Given the description of an element on the screen output the (x, y) to click on. 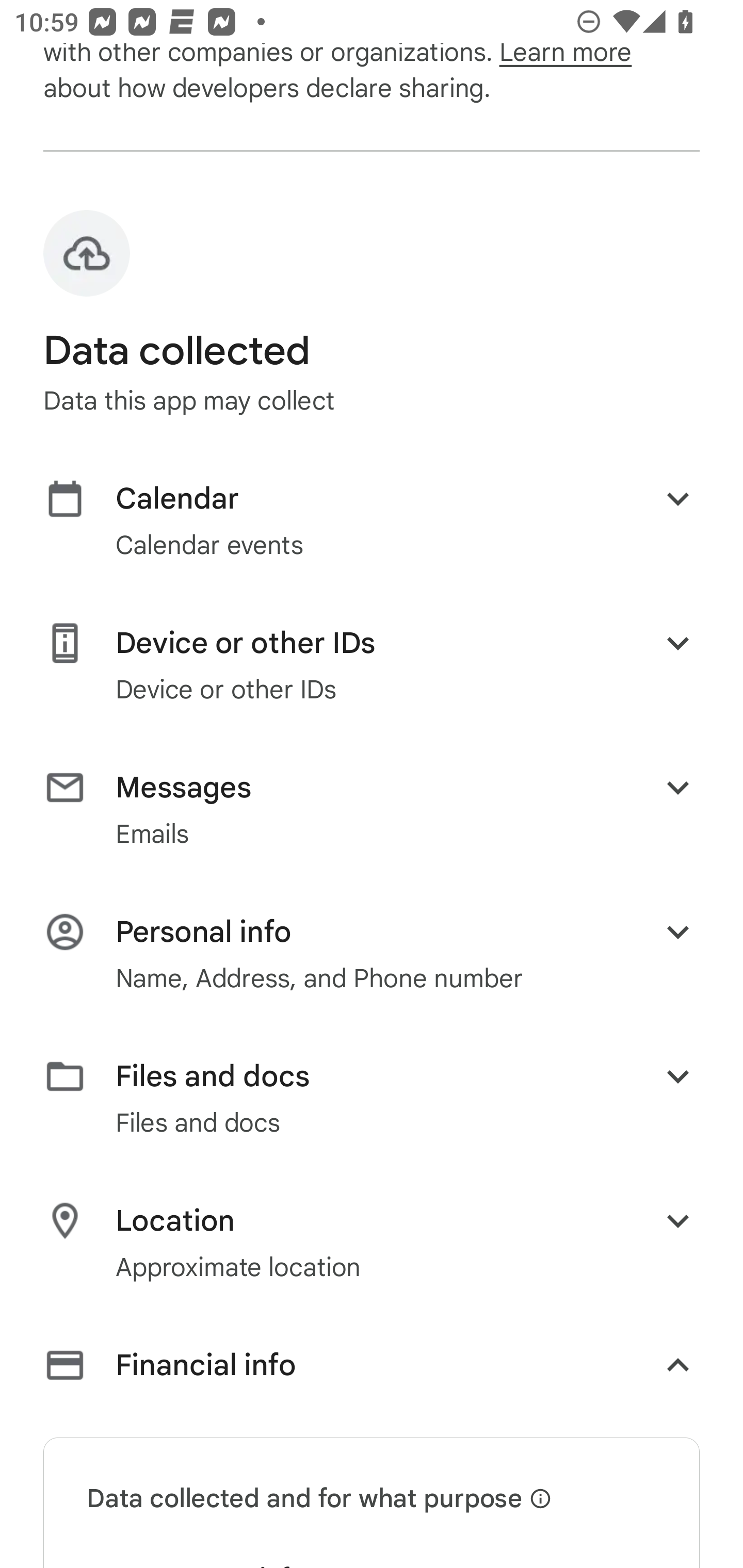
heading Calendar Calendar events Expand button (371, 520)
heading Messages Emails Expand button (371, 808)
heading Financial info Collapse button (371, 1368)
